Given the description of an element on the screen output the (x, y) to click on. 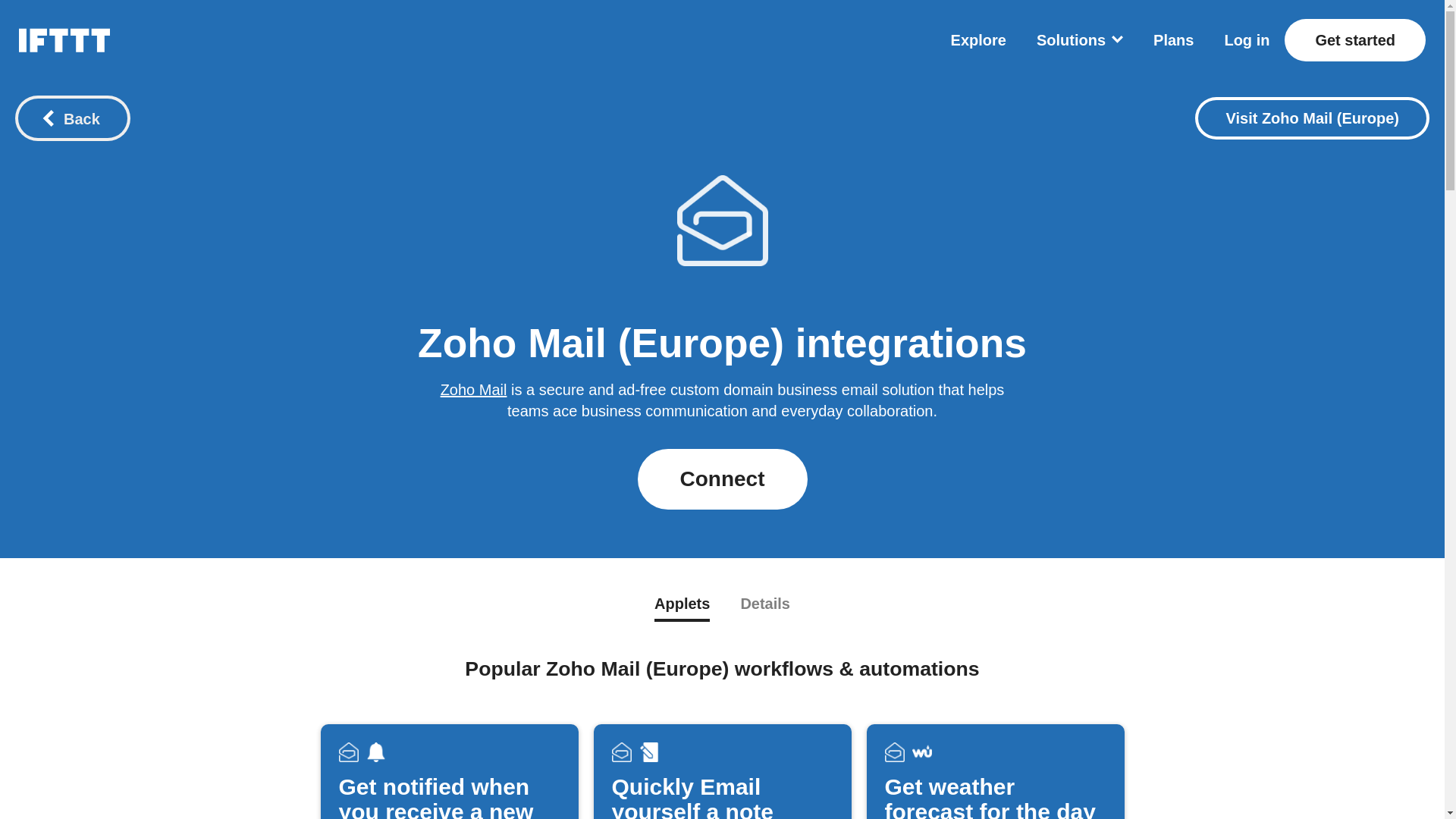
Home (64, 40)
Log in (1246, 39)
Back (72, 117)
Note widget (648, 752)
Explore (978, 39)
Get started (1354, 39)
Plans (1173, 39)
Connect (721, 478)
Notifications (375, 752)
Explore (978, 39)
Plans (1173, 39)
Solutions (1079, 39)
Get started (1354, 39)
Zoho Mail (473, 389)
